Given the description of an element on the screen output the (x, y) to click on. 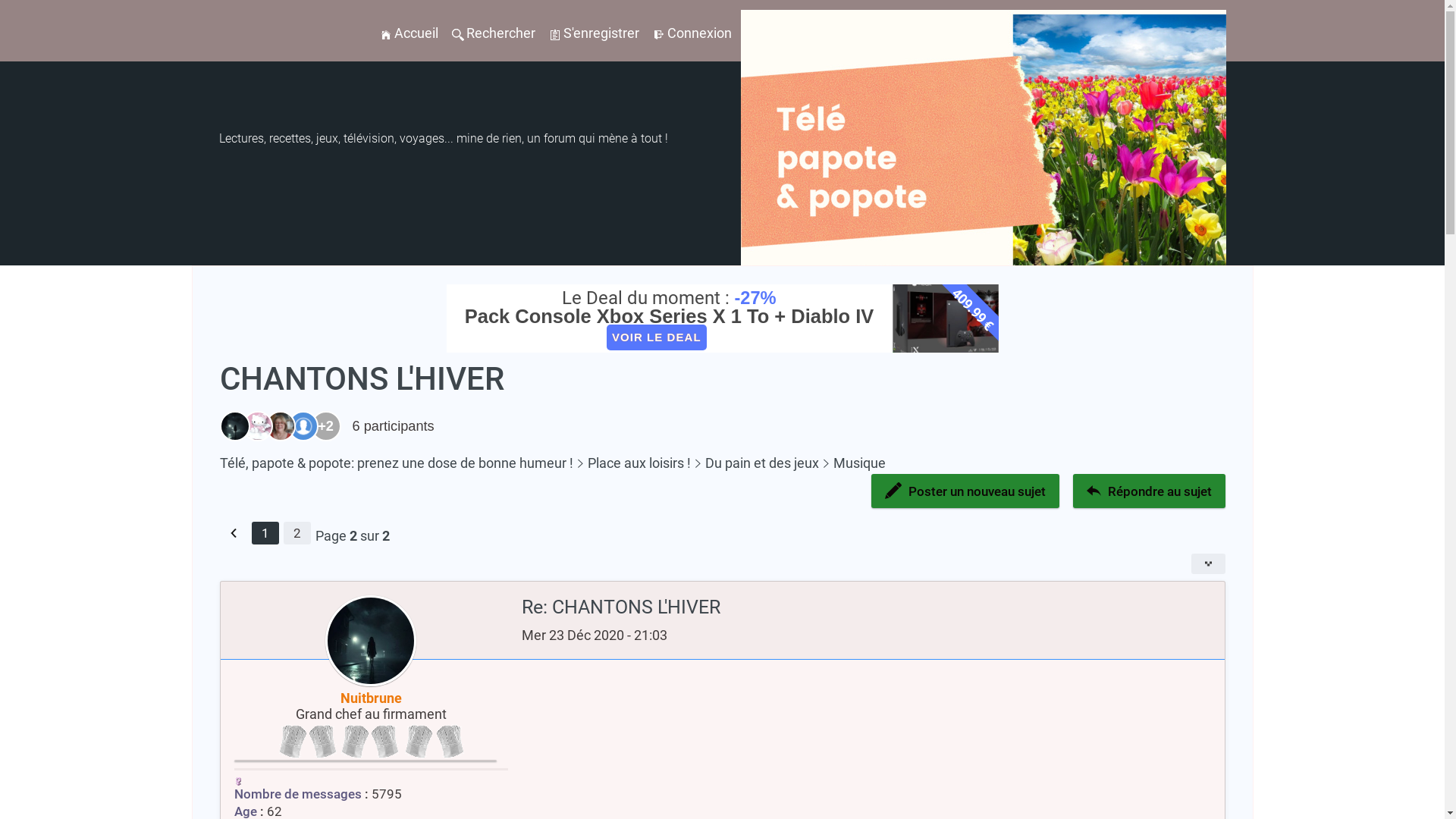
Re: CHANTONS L'HIVER Element type: text (837, 607)
Accueil Element type: text (408, 32)
Musique Element type: text (854, 462)
Page 2 sur 2 Element type: text (352, 535)
Marie07 Element type: hover (276, 426)
S'enregistrer Element type: text (593, 32)
Poster un nouveau sujet Element type: text (964, 490)
Accueil Element type: hover (385, 34)
Connexion Element type: text (691, 32)
Lepetit Element type: hover (299, 426)
Nuitbrune Element type: hover (238, 426)
Rechercher Element type: text (493, 32)
Grand chef au firmament Element type: hover (370, 740)
S'enregistrer Element type: hover (555, 34)
sandy Element type: hover (253, 426)
Place aux loisirs ! Element type: text (633, 462)
Connexion Element type: hover (658, 34)
Rechercher Element type: hover (457, 34)
1 Element type: text (265, 532)
CHANTONS L'HIVER Element type: text (361, 378)
Du pain et des jeux Element type: text (756, 462)
